Given the description of an element on the screen output the (x, y) to click on. 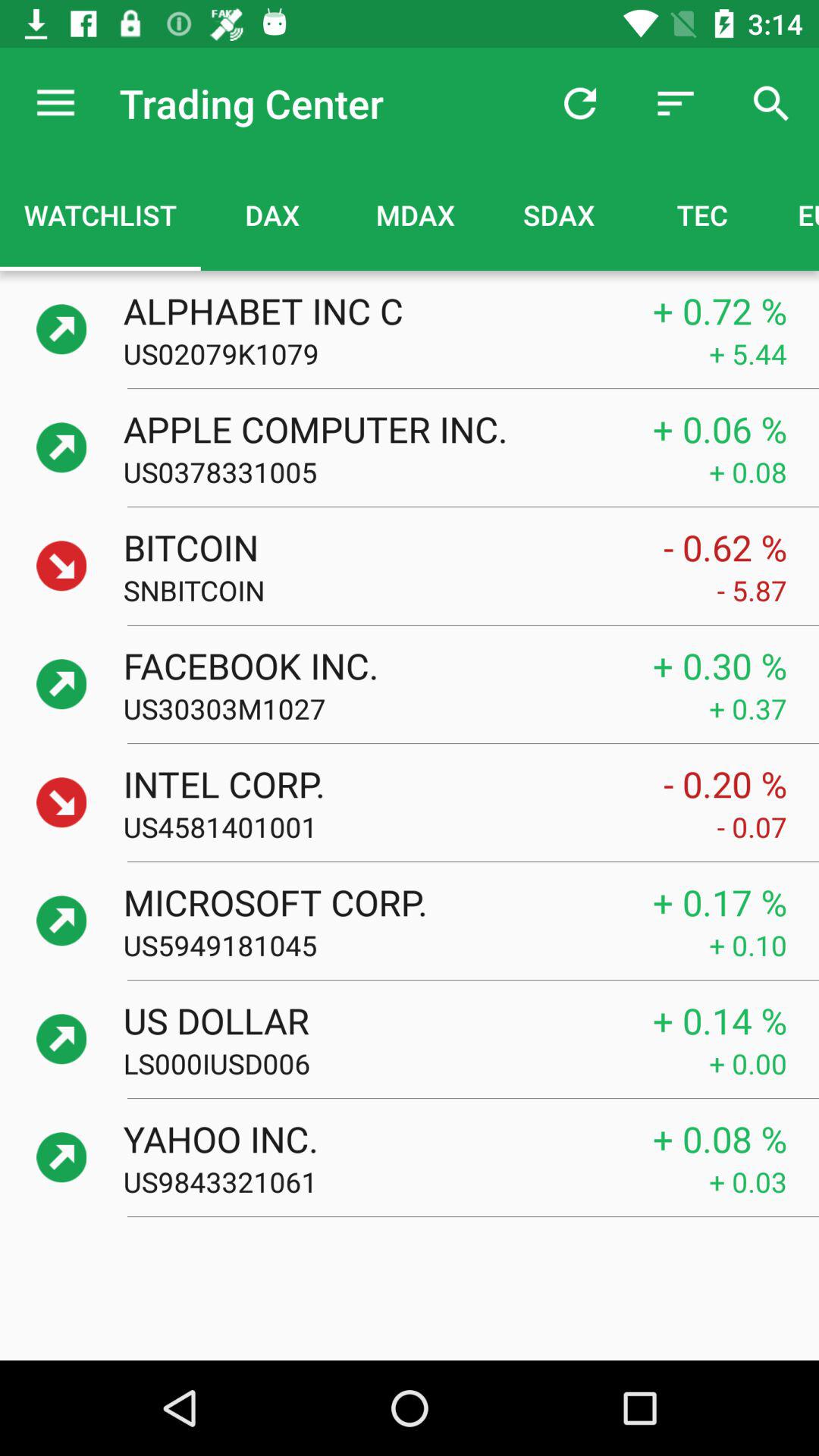
tap the icon next to the + 0.72 % (372, 310)
